Given the description of an element on the screen output the (x, y) to click on. 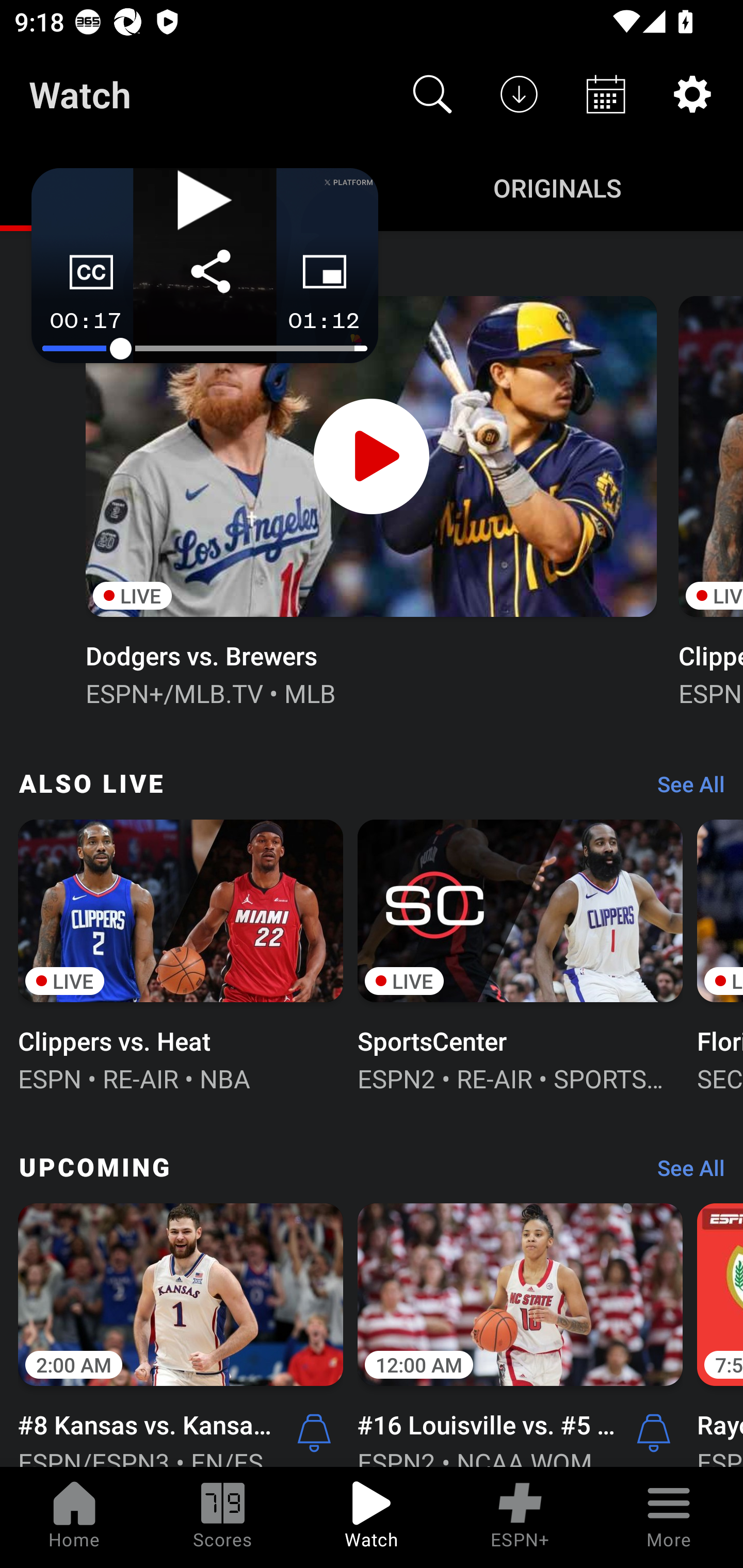
Search (432, 93)
Downloads (518, 93)
Schedule (605, 93)
Settings (692, 93)
Originals ORIGINALS (557, 187)
 LIVE Dodgers vs. Brewers ESPN+/MLB.TV • MLB (370, 499)
See All (683, 788)
LIVE Clippers vs. Heat ESPN • RE-AIR • NBA (180, 954)
LIVE SportsCenter ESPN2 • RE-AIR • SPORTSCENTER (519, 954)
See All (683, 1172)
Alerts (314, 1432)
Alerts (653, 1432)
Home (74, 1517)
Scores (222, 1517)
ESPN+ (519, 1517)
More (668, 1517)
